Given the description of an element on the screen output the (x, y) to click on. 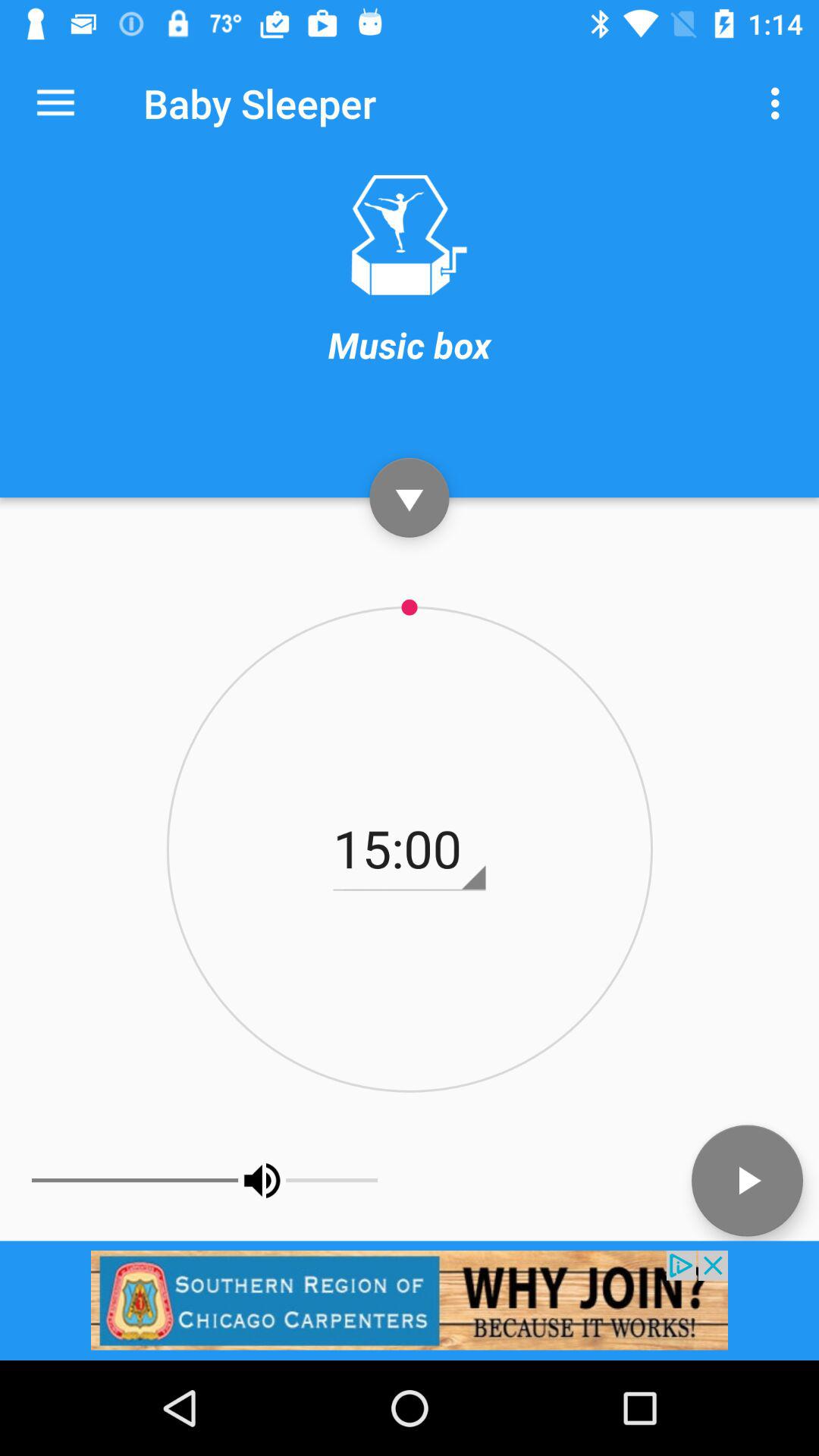
play audio (747, 1180)
